Given the description of an element on the screen output the (x, y) to click on. 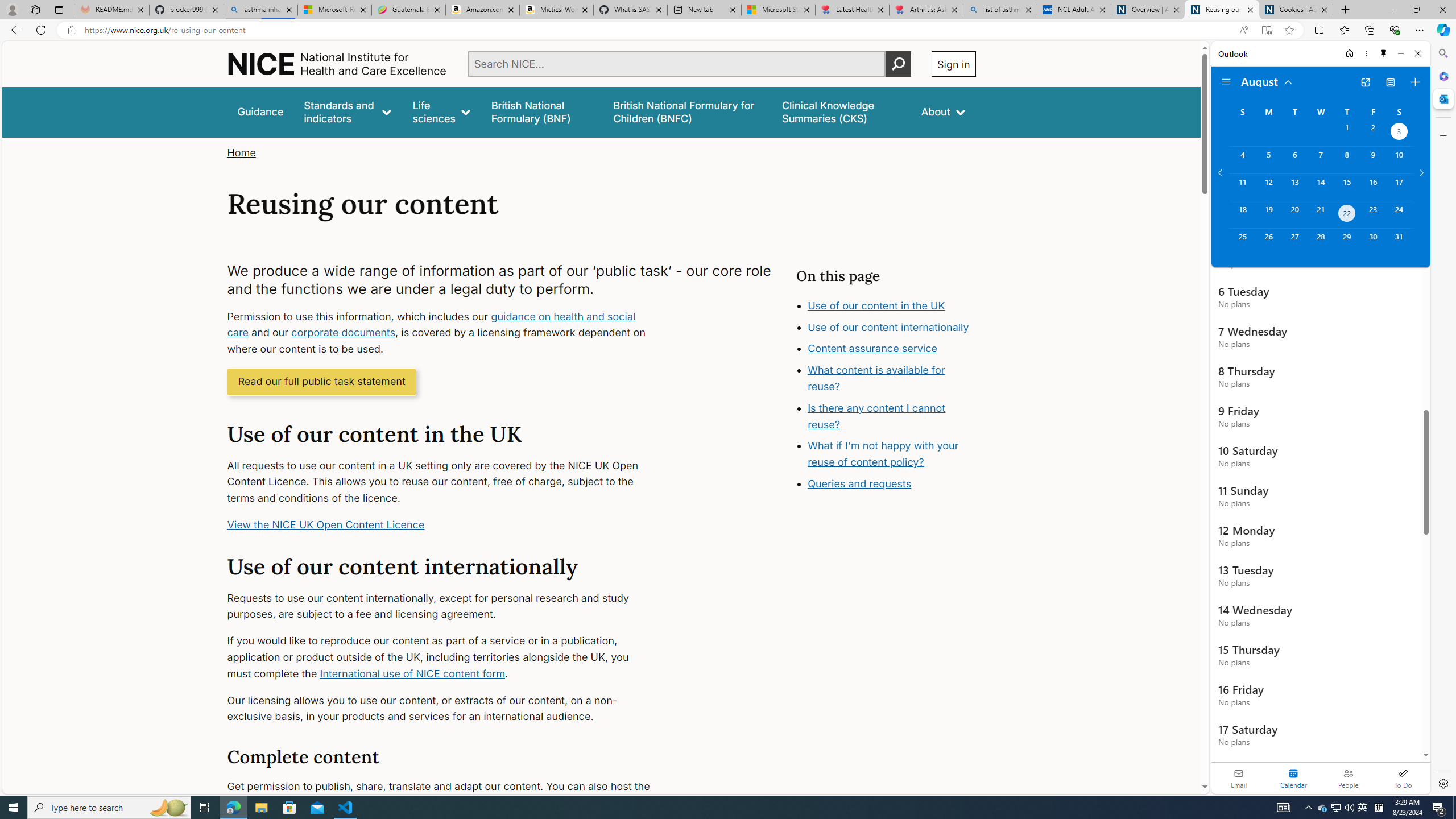
Wednesday, August 7, 2024.  (1320, 159)
corporate documents (343, 332)
Wednesday, August 21, 2024.  (1320, 214)
What content is available for reuse? (876, 378)
Monday, August 5, 2024.  (1268, 159)
Monday, August 19, 2024.  (1268, 214)
Queries and requests (859, 483)
